Given the description of an element on the screen output the (x, y) to click on. 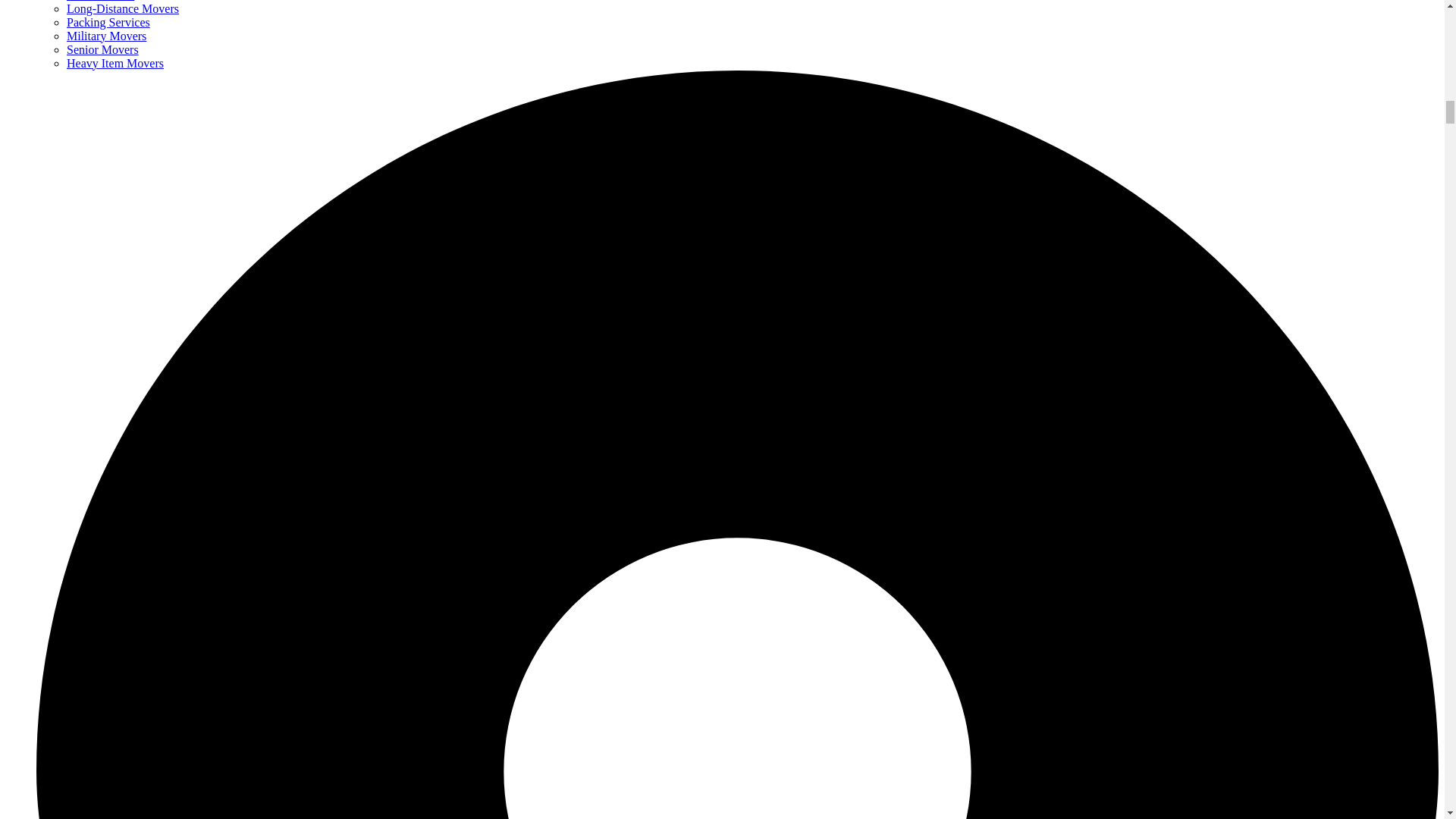
Military Movers (106, 35)
Heavy Item Movers (114, 62)
Packing Services (107, 21)
Local Movers (99, 0)
Senior Movers (102, 49)
Long-Distance Movers (122, 8)
